Given the description of an element on the screen output the (x, y) to click on. 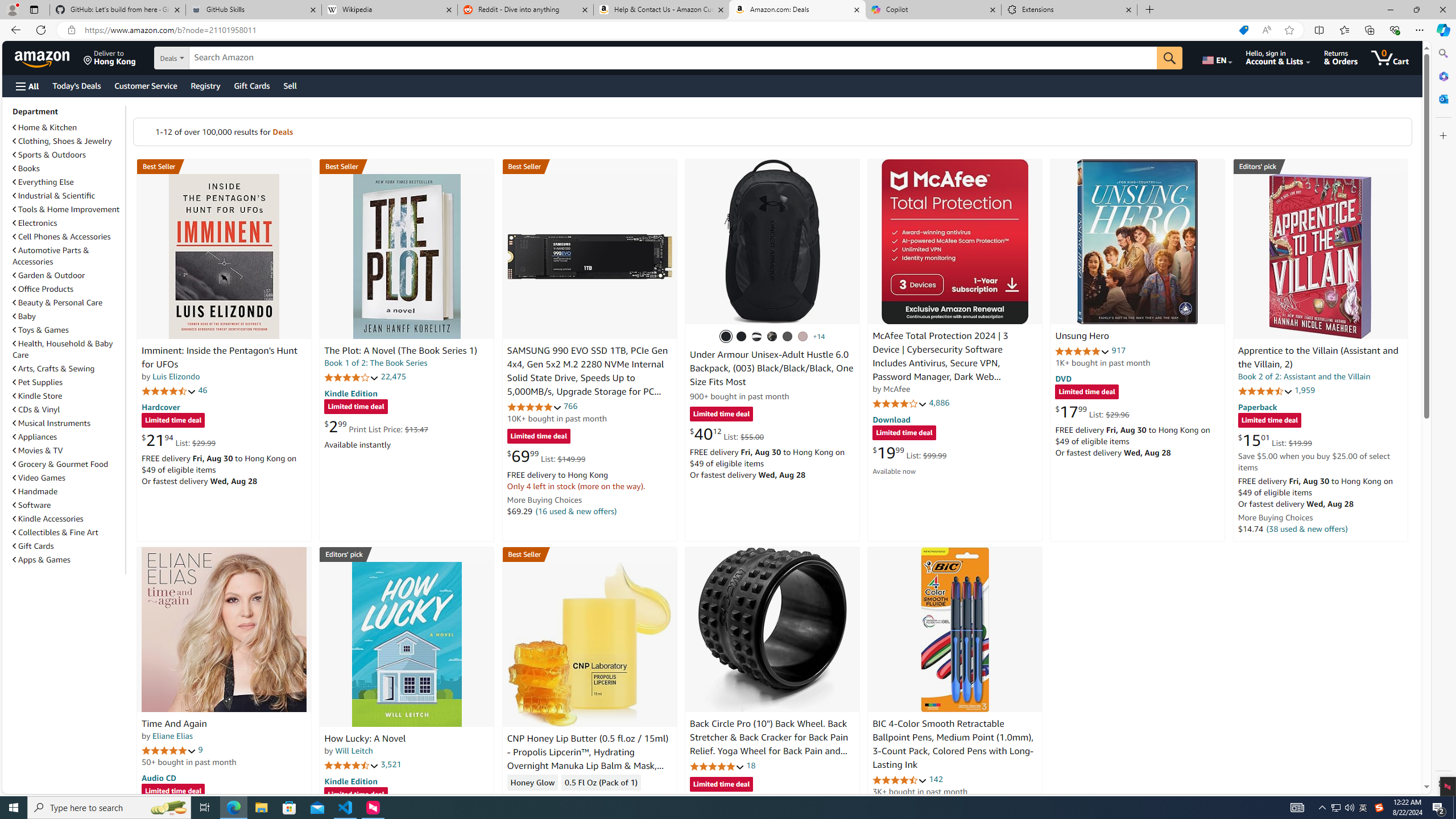
Kindle Edition (350, 780)
1,959 (1305, 390)
Gift Cards (67, 546)
(004) Black / Black / Metallic Gold (772, 336)
Tools & Home Improvement (66, 208)
Kindle Store (37, 395)
Apprentice to the Villain (Assistant and the Villain, 2) (1319, 256)
Editors' pick Best Mystery, Thriller & Suspense (406, 553)
Sports & Outdoors (49, 154)
Deliver to Hong Kong (109, 57)
Editors' pick Best Science Fiction & Fantasy (1320, 165)
